Given the description of an element on the screen output the (x, y) to click on. 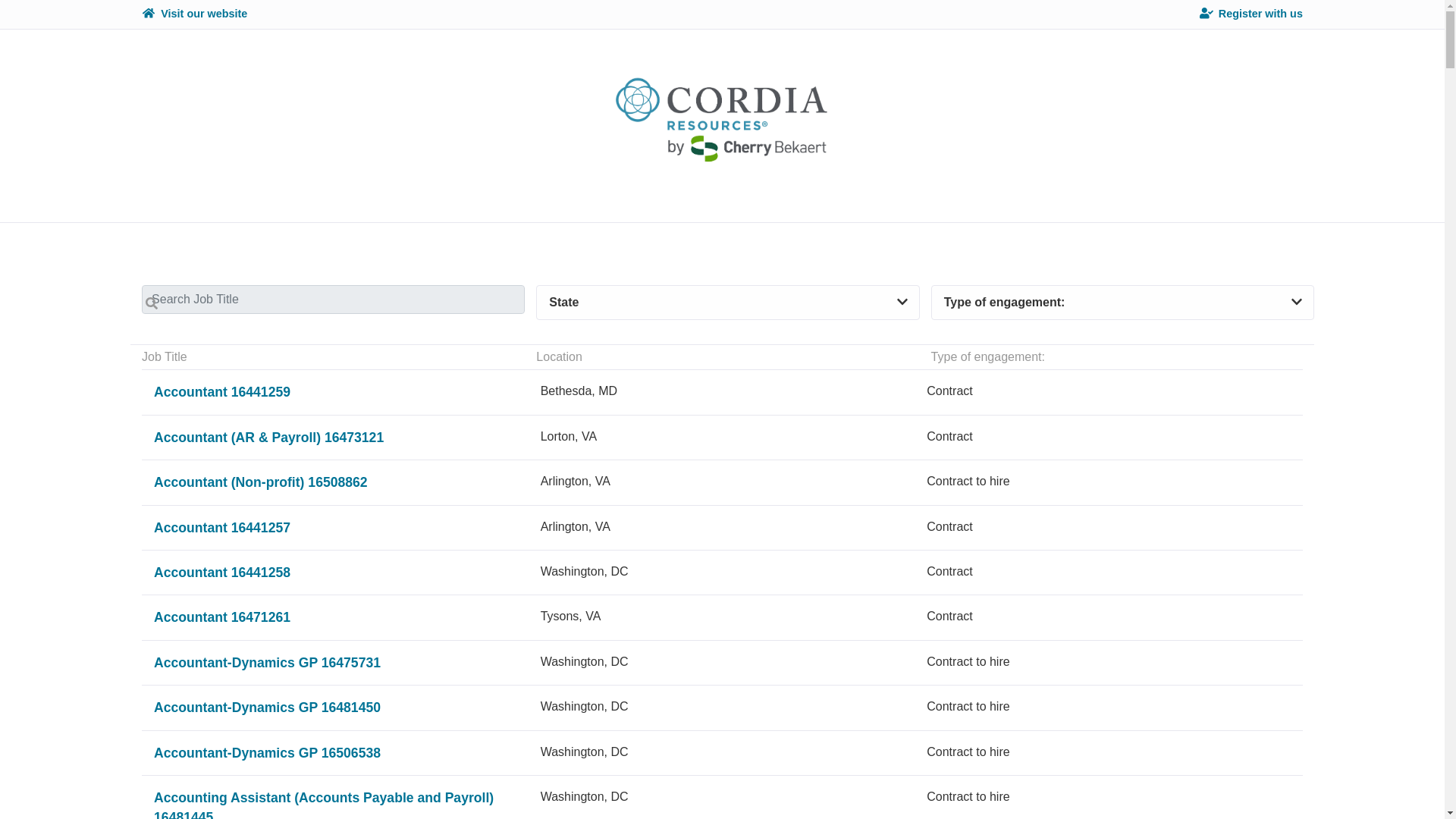
Type of engagement: (722, 571)
Visit our website (722, 616)
State (1122, 303)
Register with us (722, 391)
